Given the description of an element on the screen output the (x, y) to click on. 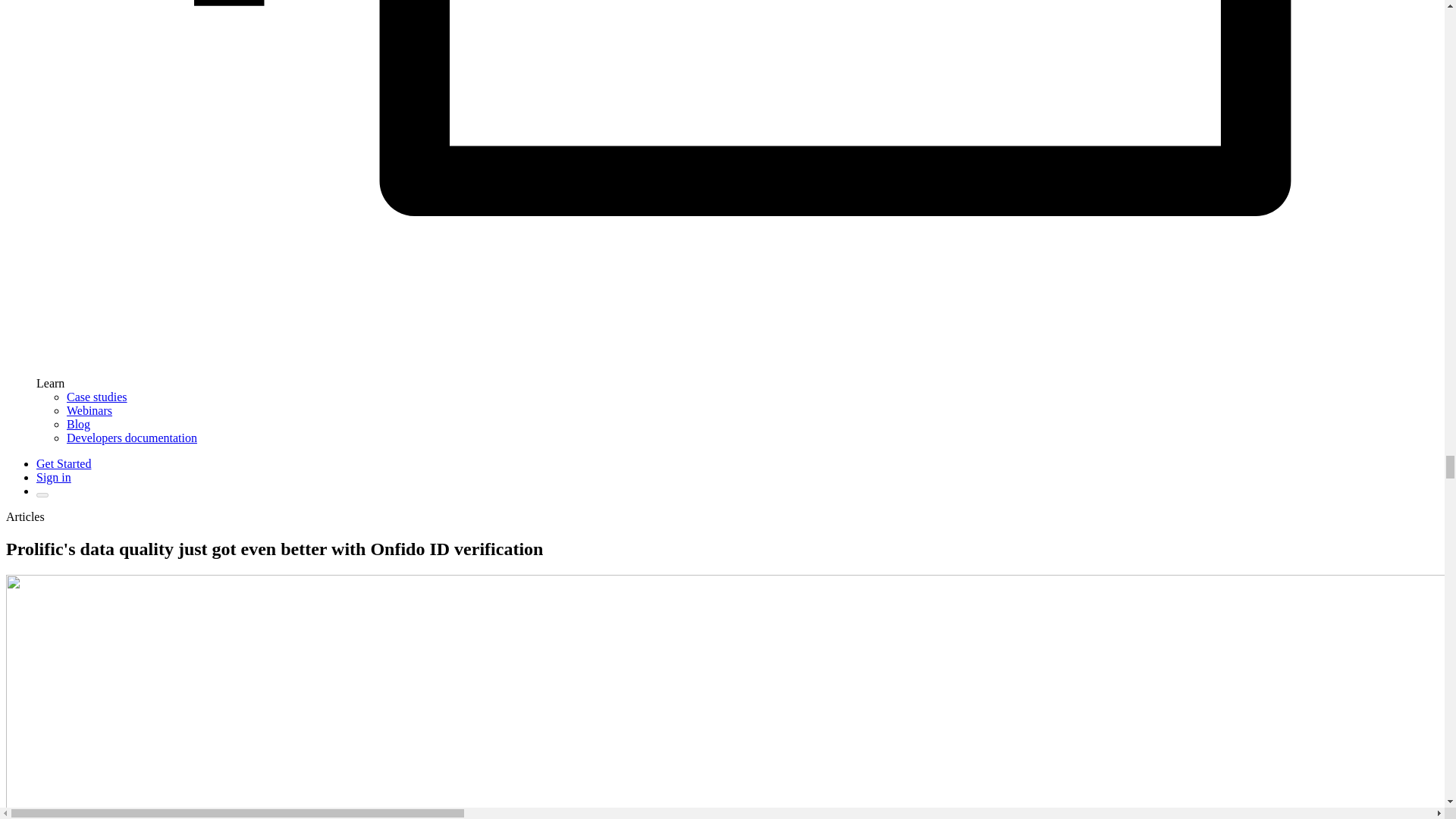
Webinars (89, 410)
Case studies (97, 396)
